Given the description of an element on the screen output the (x, y) to click on. 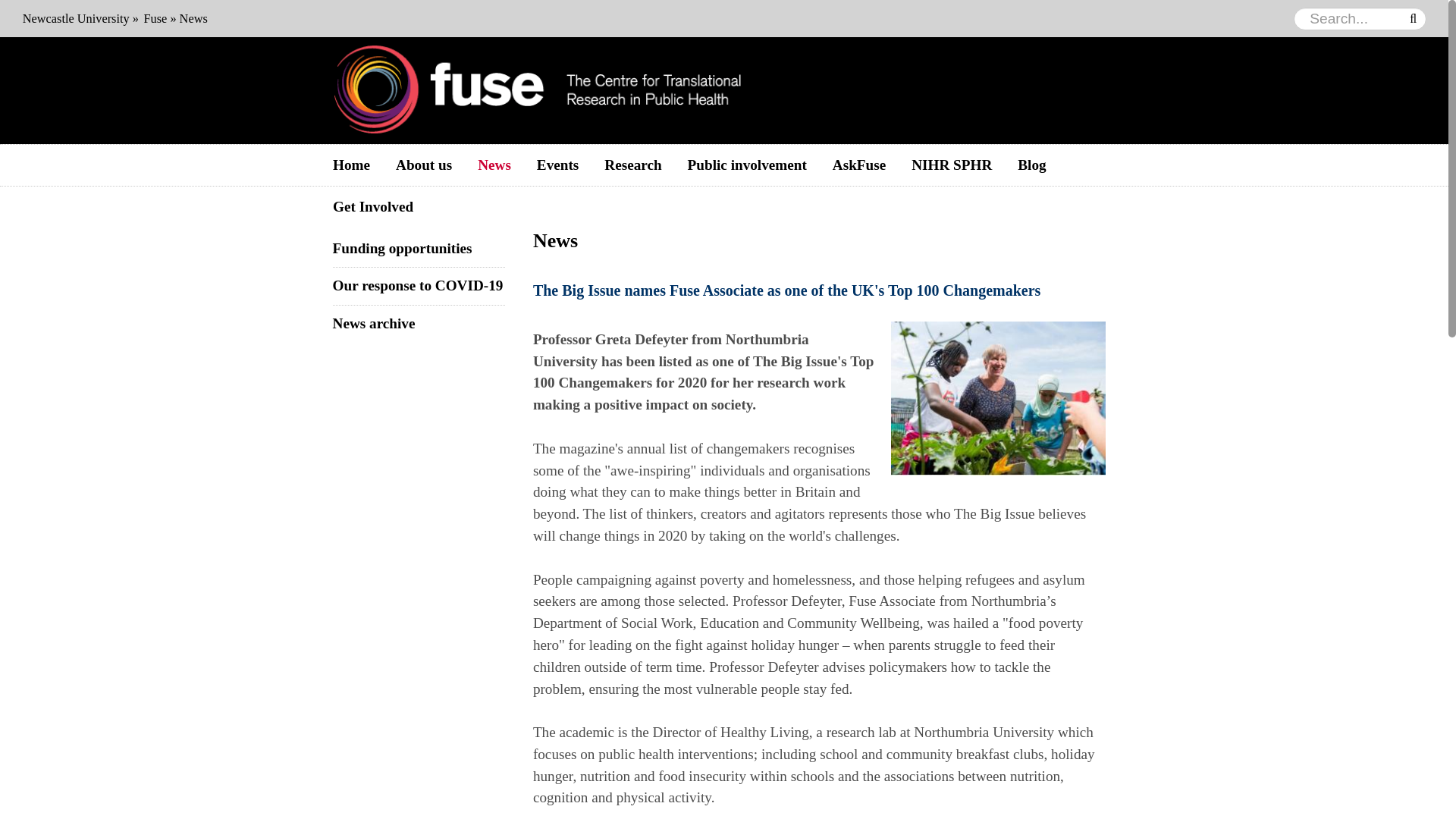
AskFuse (858, 165)
News (494, 165)
Home (351, 165)
Get Involved (373, 207)
News archive (373, 323)
About us (423, 165)
Blog (1031, 165)
Funding opportunities (402, 248)
Newcastle University (76, 18)
Research (632, 165)
